Given the description of an element on the screen output the (x, y) to click on. 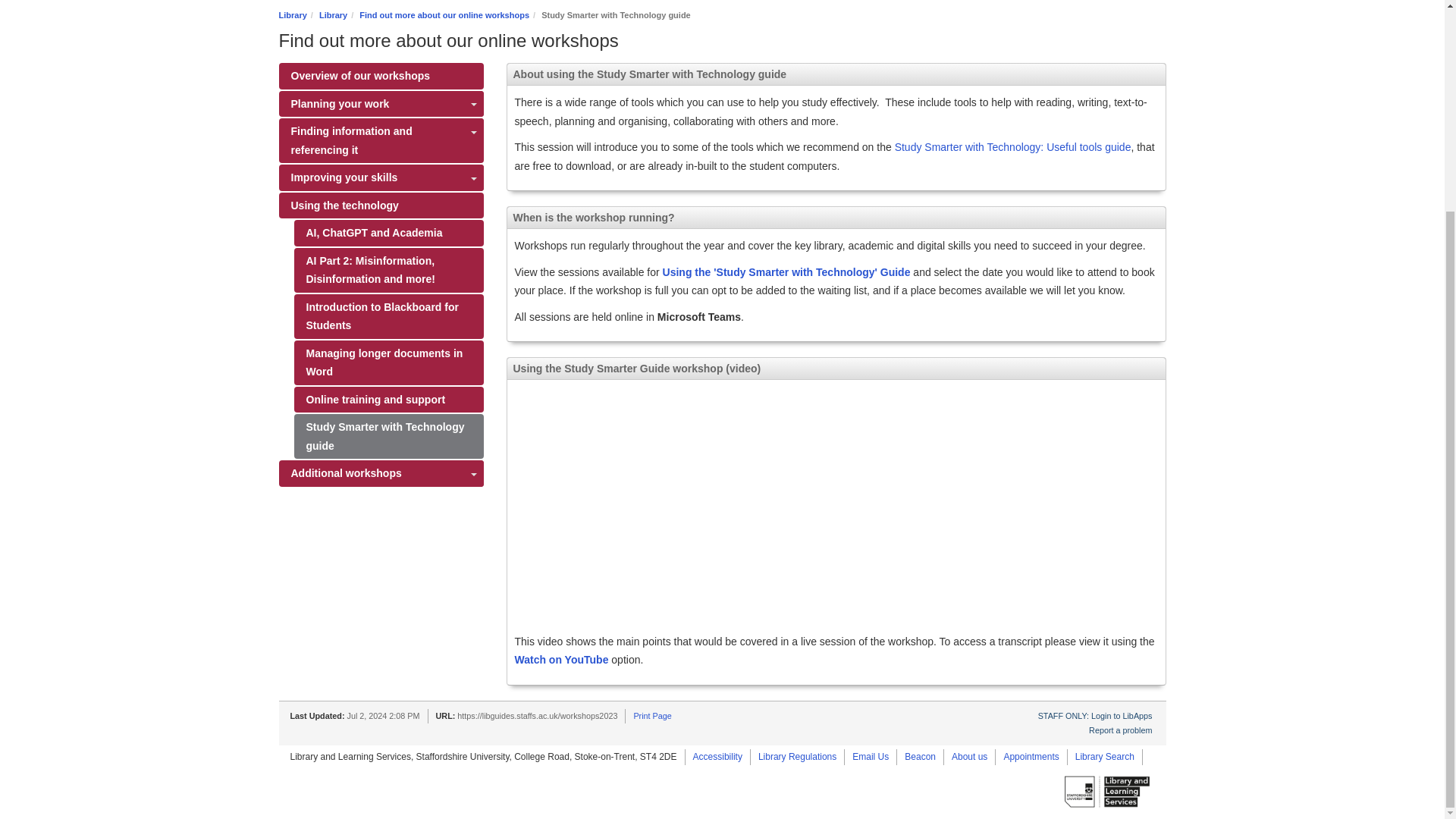
Library (332, 14)
Overview of our workshops (381, 76)
Improving your skills (381, 177)
Using the technology (381, 205)
AI, ChatGPT and Academia (388, 233)
AI Part 2: Misinformation, Disinformation and more! (388, 270)
Planning your work (381, 103)
Find out more about our online workshops (444, 14)
Library (293, 14)
Finding information and referencing it (381, 139)
